Given the description of an element on the screen output the (x, y) to click on. 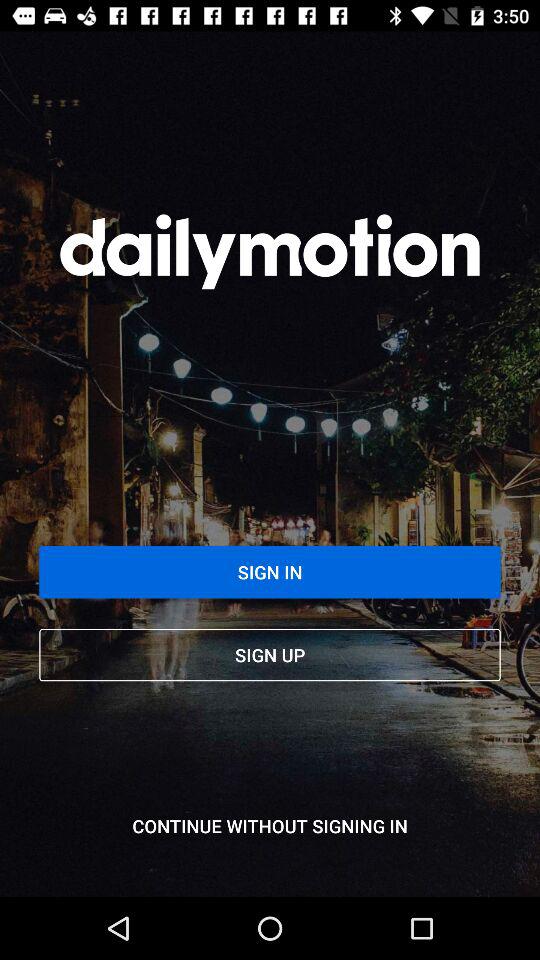
swipe until continue without signing icon (269, 825)
